Given the description of an element on the screen output the (x, y) to click on. 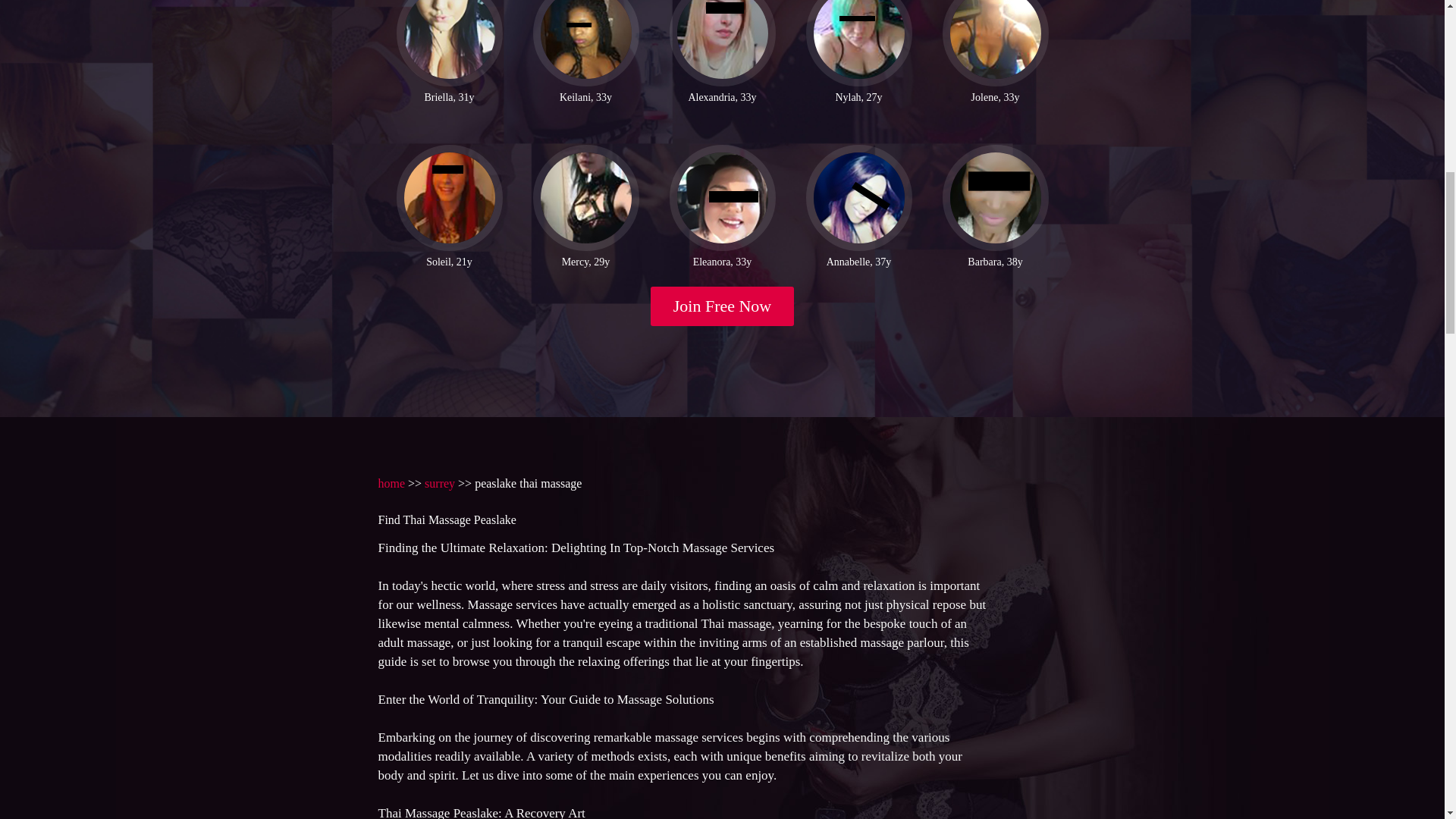
surrey (439, 482)
Join Free Now (722, 305)
Join (722, 305)
home (390, 482)
